Given the description of an element on the screen output the (x, y) to click on. 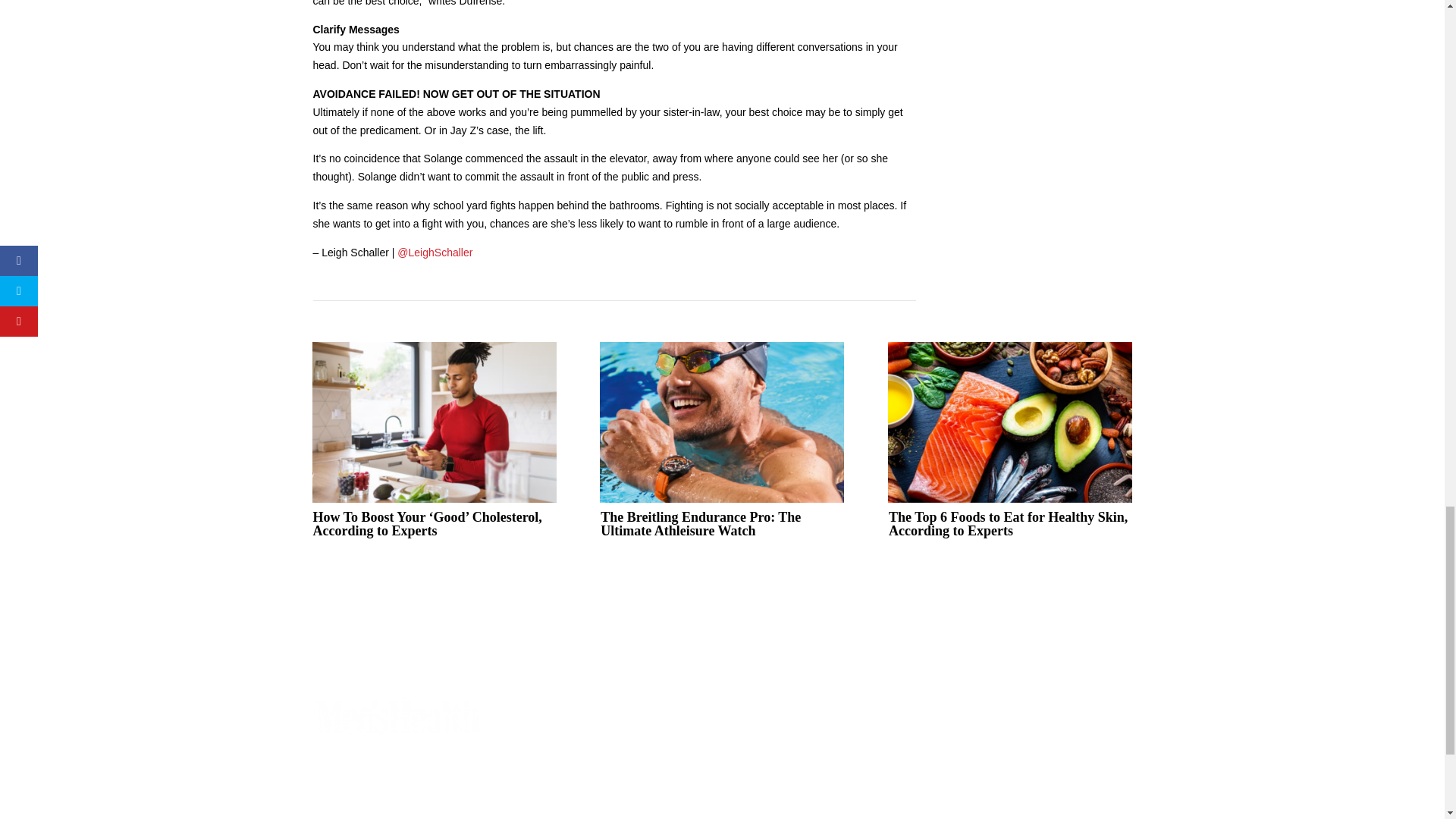
Follow on Youtube (631, 709)
Follow on TikTok (661, 709)
Follow on Facebook (540, 709)
Follow on X (571, 709)
Follow on Instagram (600, 709)
